Given the description of an element on the screen output the (x, y) to click on. 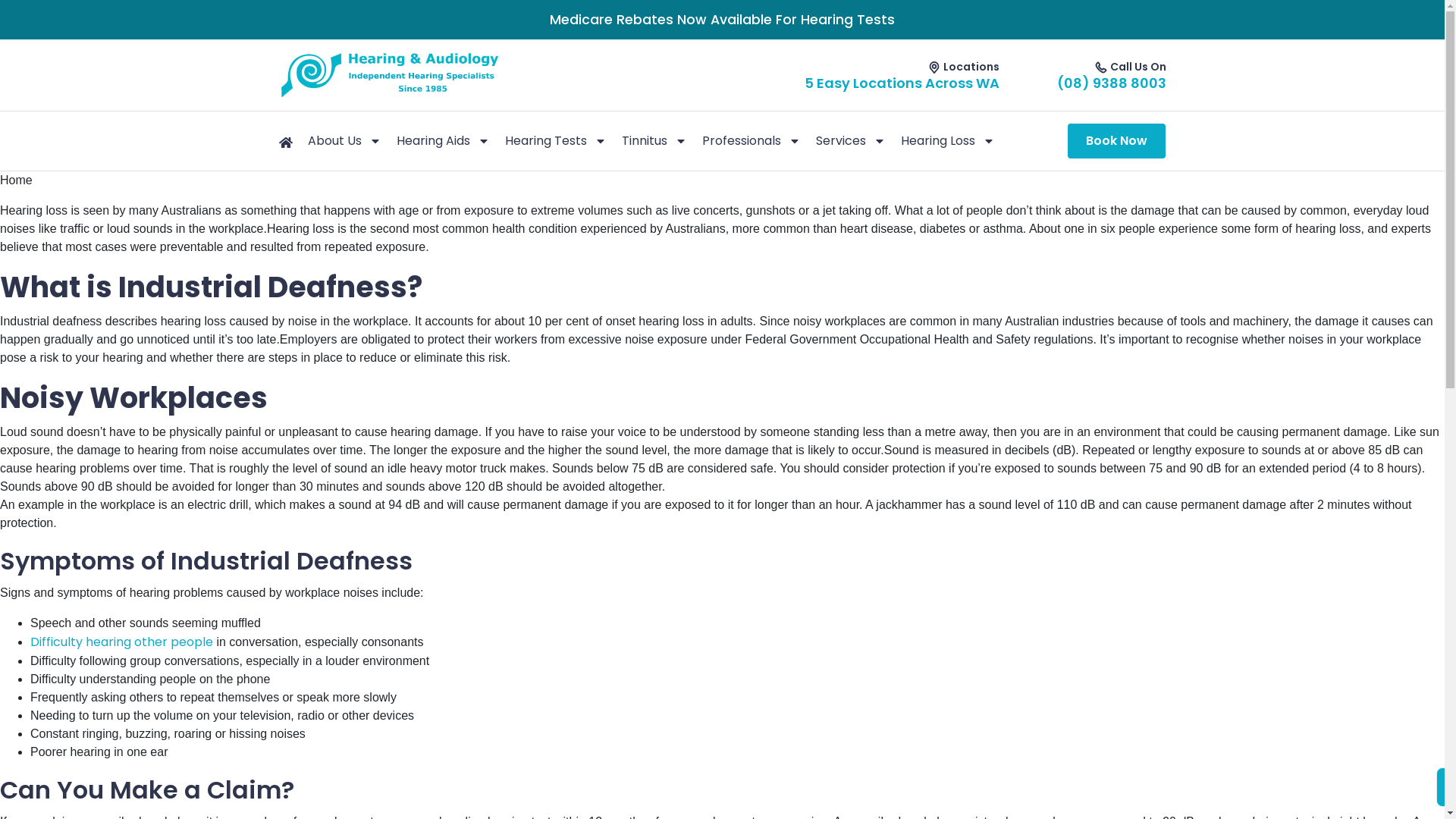
Book Now Element type: text (1116, 140)
Hearing Tests Element type: text (555, 140)
Hearing Aids Element type: text (442, 140)
Professionals Element type: text (751, 140)
Services Element type: text (850, 140)
5 Easy Locations Across WA Element type: text (901, 82)
About Us Element type: text (344, 140)
Tinnitus Element type: text (654, 140)
(08) 9388 8003 Element type: text (1111, 82)
Hearing Loss Element type: text (947, 140)
Difficulty hearing other people Element type: text (121, 641)
